Given the description of an element on the screen output the (x, y) to click on. 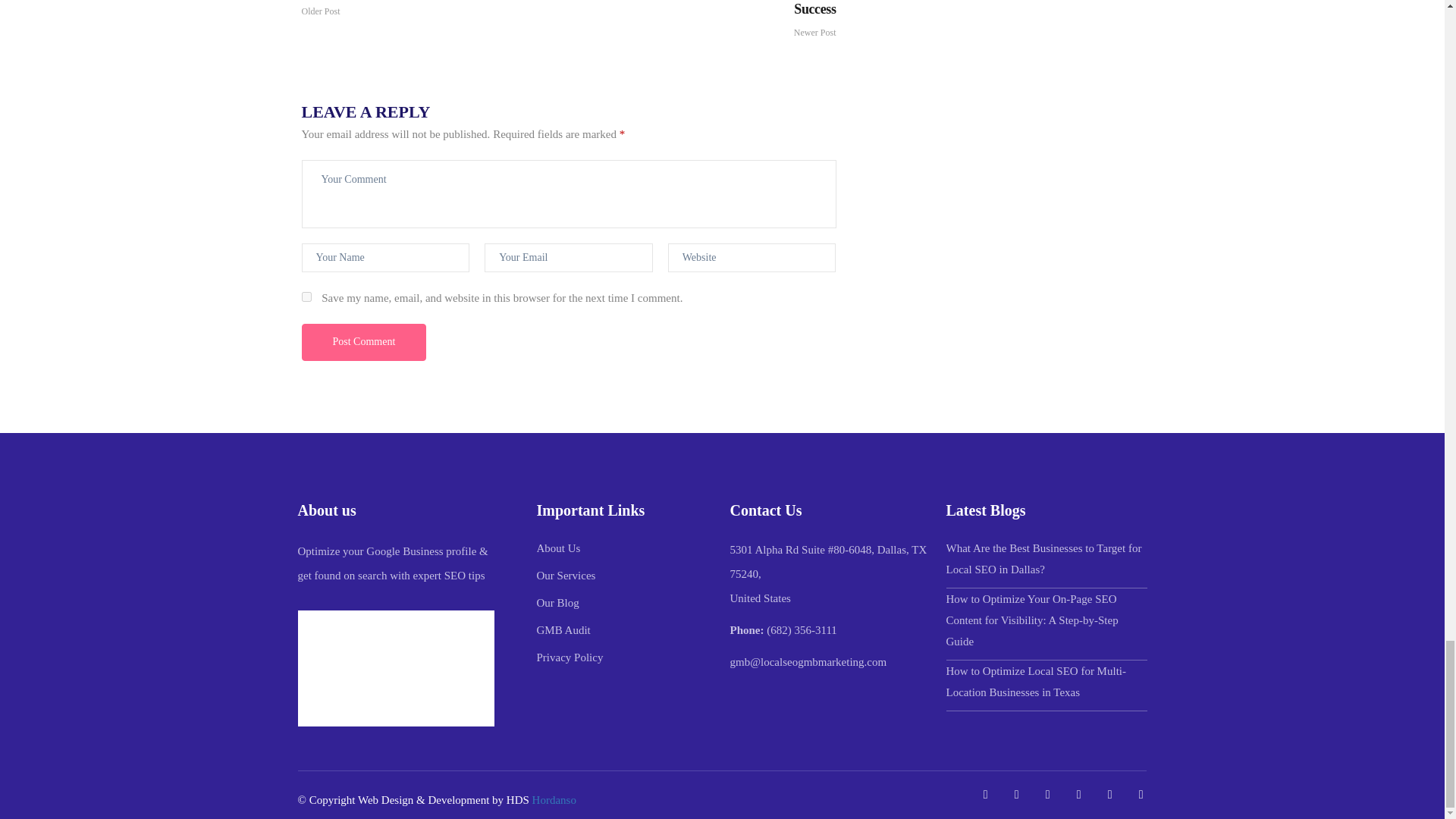
Post Comment (363, 342)
yes (306, 296)
